Given the description of an element on the screen output the (x, y) to click on. 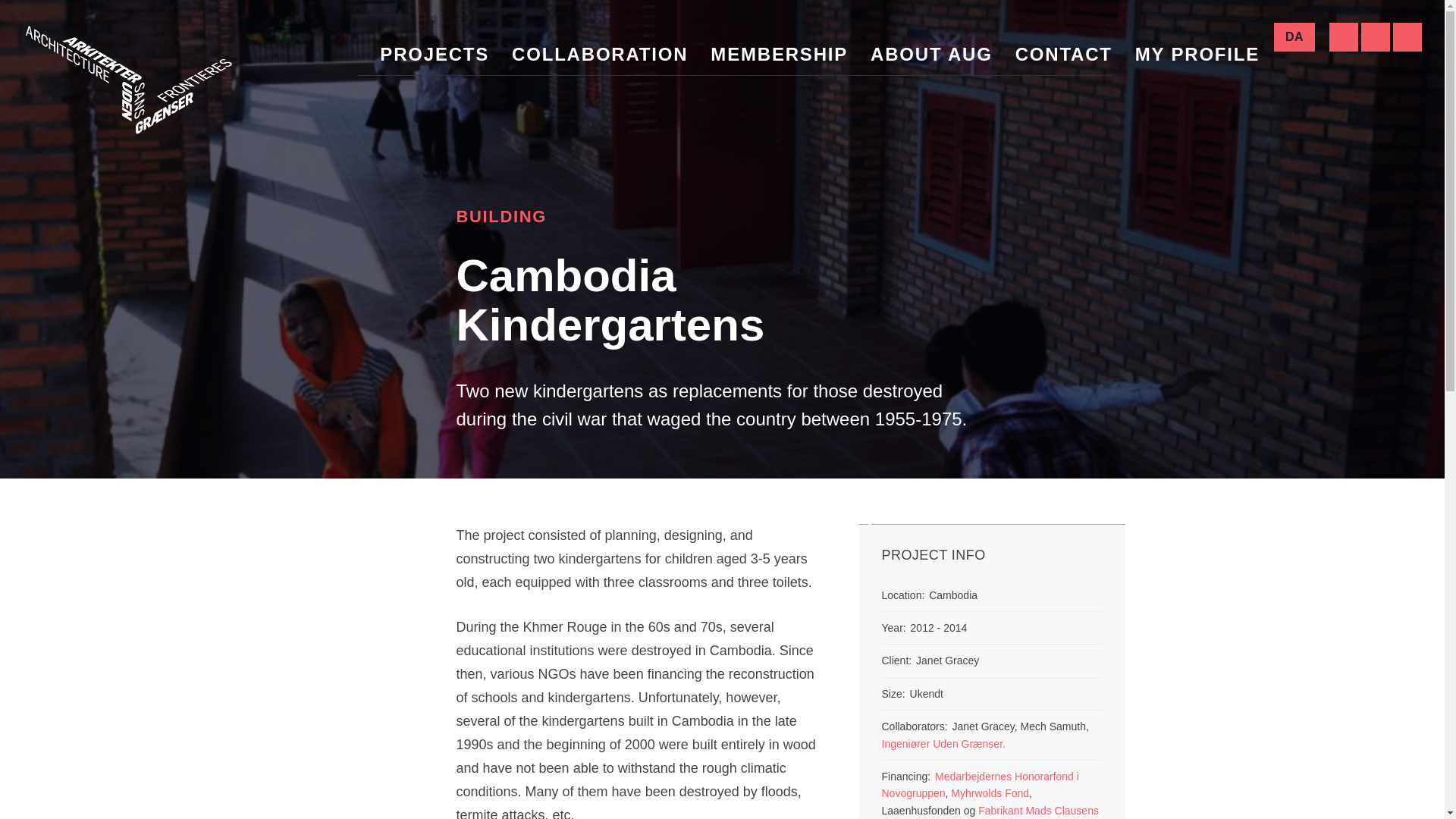
CONTACT (1063, 54)
Medarbejdernes Honorarfond i Novogruppen (979, 784)
Myhrwolds Fond (988, 793)
ABOUT AUG (931, 54)
Fabrikant Mads Clausens Fond. (988, 811)
PROJECTS (434, 54)
MEMBERSHIP (778, 54)
COLLABORATION (599, 54)
BUILDING (502, 216)
